Given the description of an element on the screen output the (x, y) to click on. 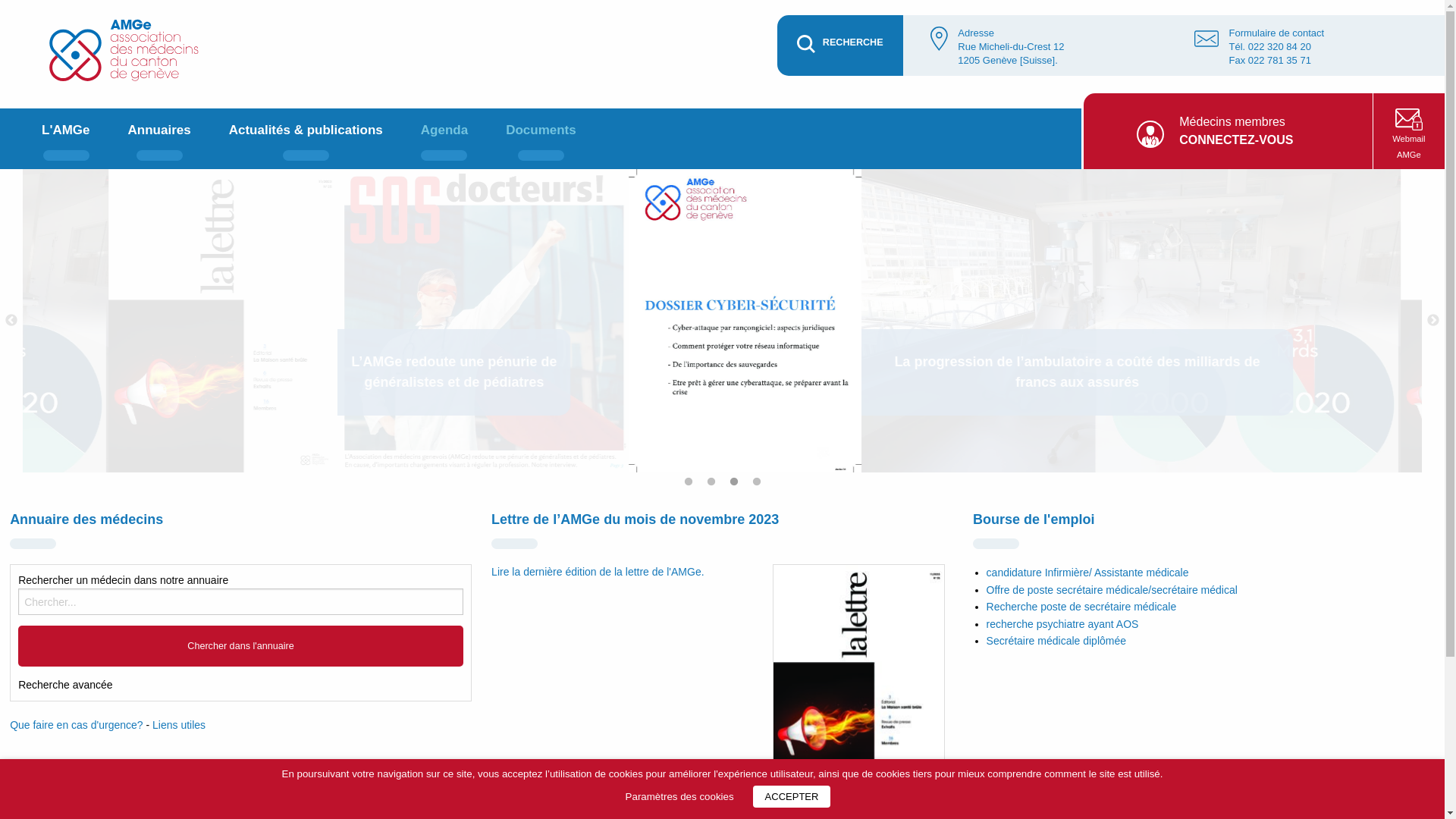
Chercher dans l'annuaire Element type: text (240, 646)
ACCEPTER Element type: text (792, 796)
Agenda Element type: text (443, 138)
Annuaires Element type: text (159, 138)
Documents Element type: text (540, 138)
3 Element type: text (738, 486)
Bourse de l'emploi Element type: text (1033, 519)
Next Element type: text (1432, 320)
Que faire en cas d'urgence? Element type: text (75, 724)
Fax 022 781 35 71 Element type: text (1269, 59)
RECHERCHE Element type: text (840, 45)
4 Element type: text (761, 486)
2 Element type: text (715, 486)
Webmail
AMGe Element type: text (1408, 131)
L'AMGe Element type: text (65, 138)
recherche psychiatre ayant AOS Element type: text (1062, 624)
Liens utiles Element type: text (178, 724)
Formulaire de contact Element type: text (1276, 32)
1 Element type: text (692, 486)
Previous Element type: text (10, 320)
